Given the description of an element on the screen output the (x, y) to click on. 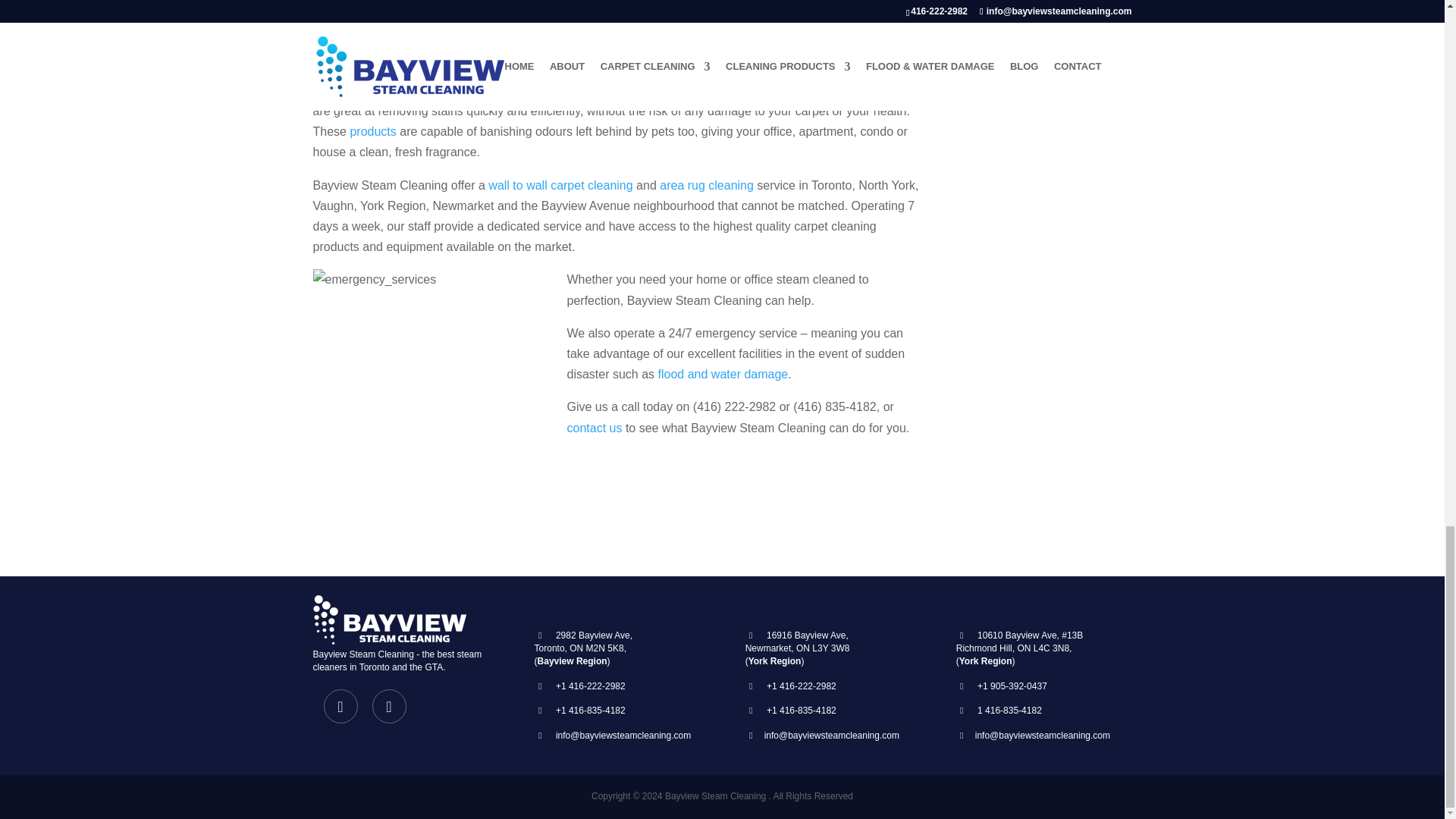
flood and water damage (723, 373)
contact us (595, 427)
area rug cleaning (706, 185)
wall to wall carpet cleaning (559, 185)
products (372, 131)
